Given the description of an element on the screen output the (x, y) to click on. 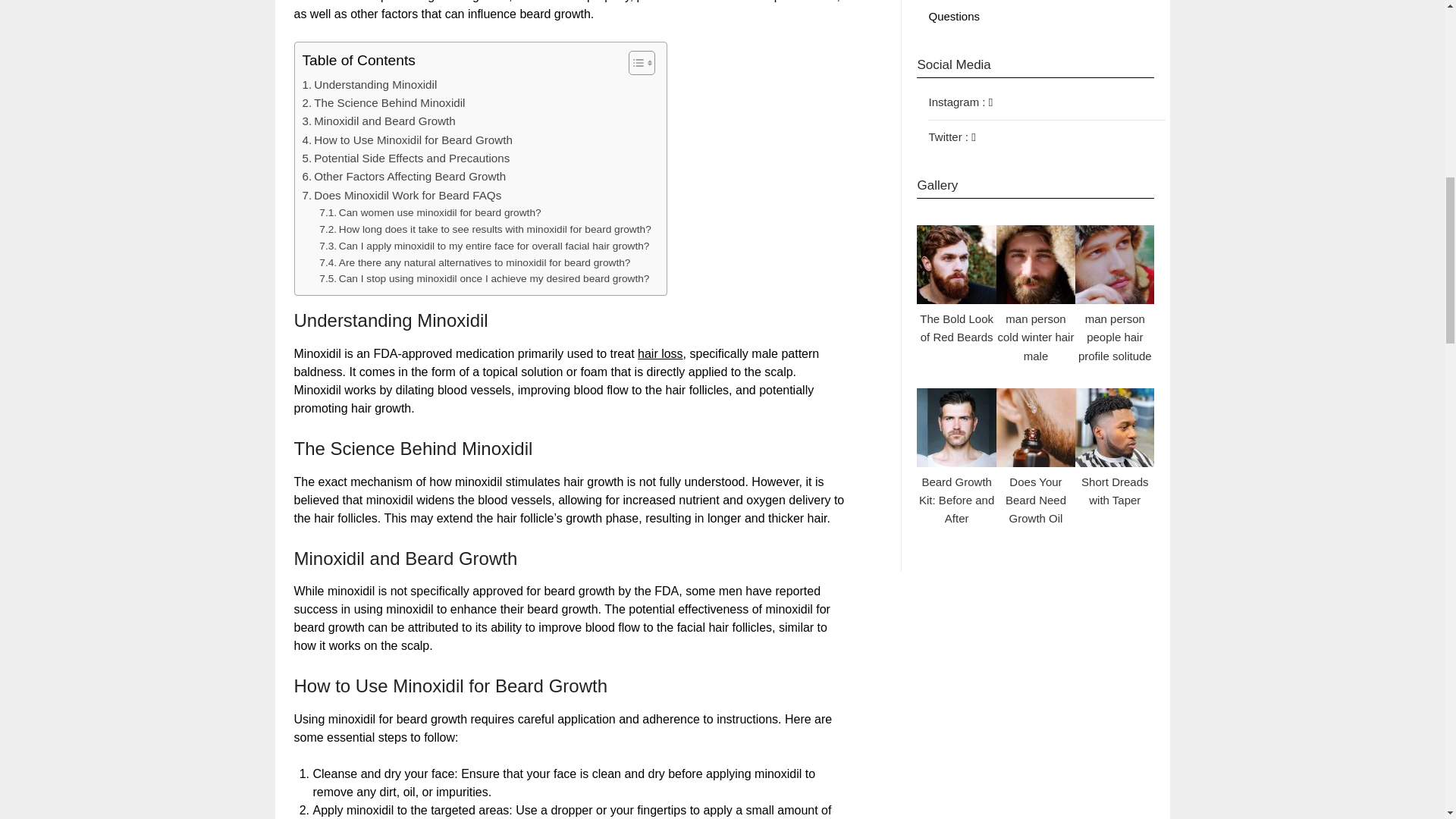
Minoxidil and Beard Growth (377, 121)
Does Minoxidil Work for Beard FAQs (400, 195)
The Science Behind Minoxidil (382, 103)
hair loss (659, 353)
Can women use minoxidil for beard growth? (429, 212)
Can women use minoxidil for beard growth? (429, 212)
Minoxidil and Beard Growth (377, 121)
Potential Side Effects and Precautions (405, 158)
Understanding Minoxidil (368, 85)
